Given the description of an element on the screen output the (x, y) to click on. 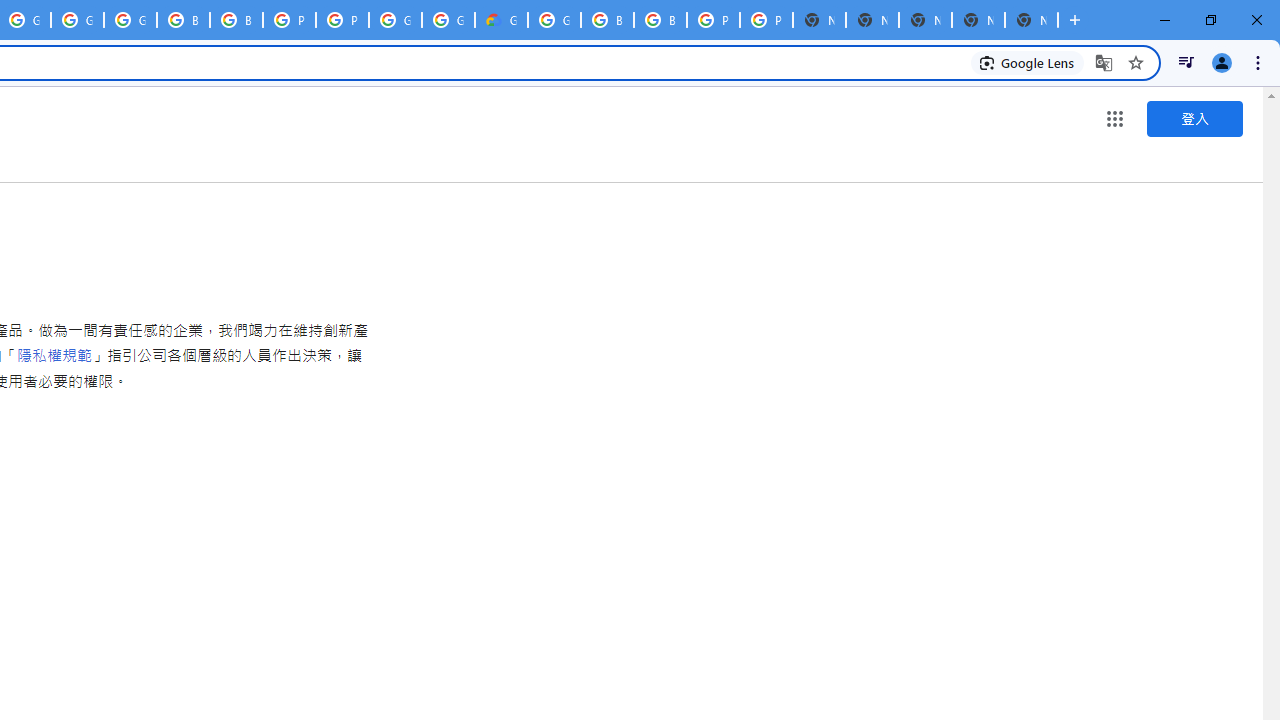
Browse Chrome as a guest - Computer - Google Chrome Help (183, 20)
New Tab (1031, 20)
Google Cloud Platform (554, 20)
Google Cloud Estimate Summary (501, 20)
Search with Google Lens (1027, 62)
